Given the description of an element on the screen output the (x, y) to click on. 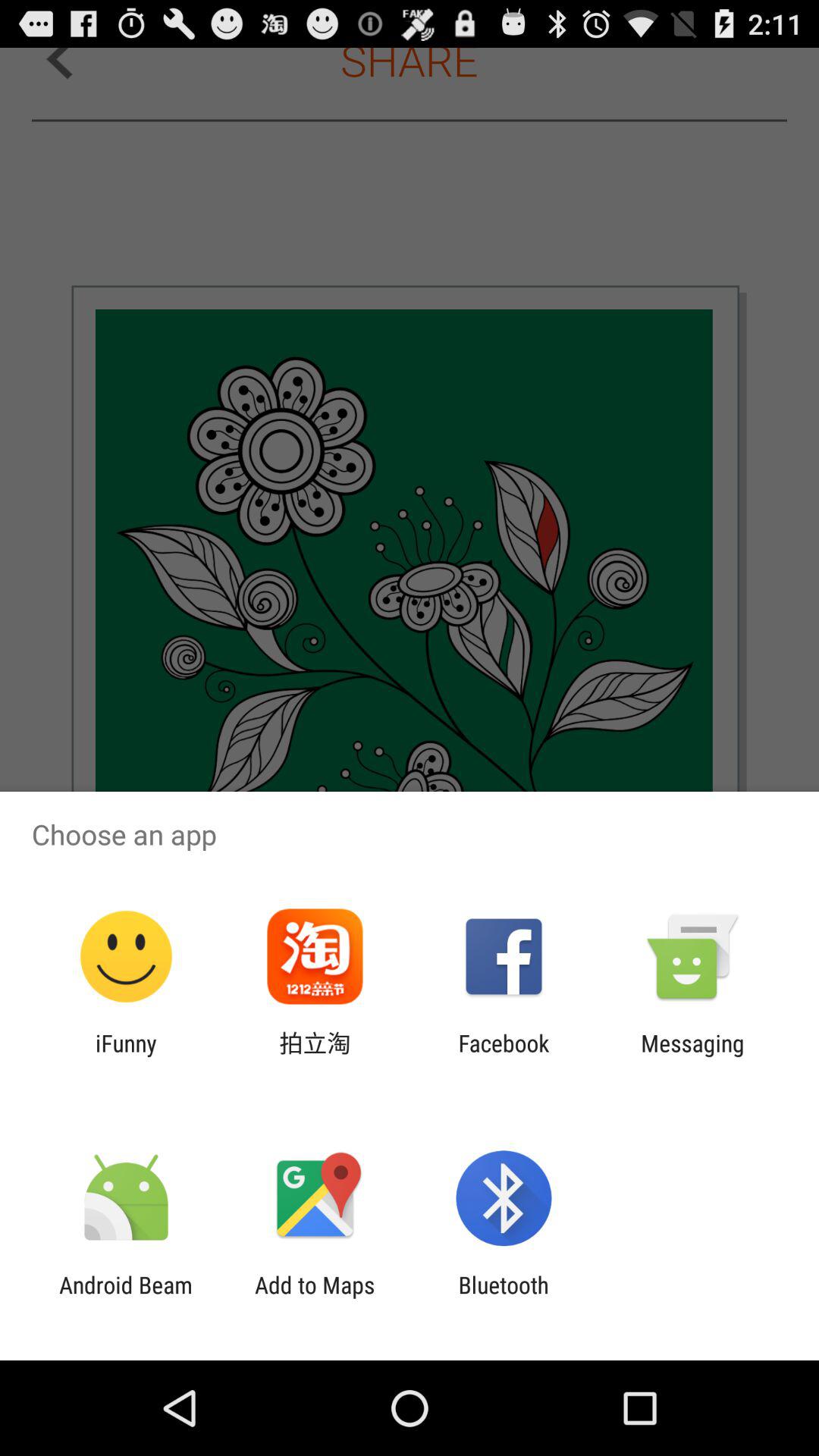
open item to the right of the add to maps item (503, 1298)
